Given the description of an element on the screen output the (x, y) to click on. 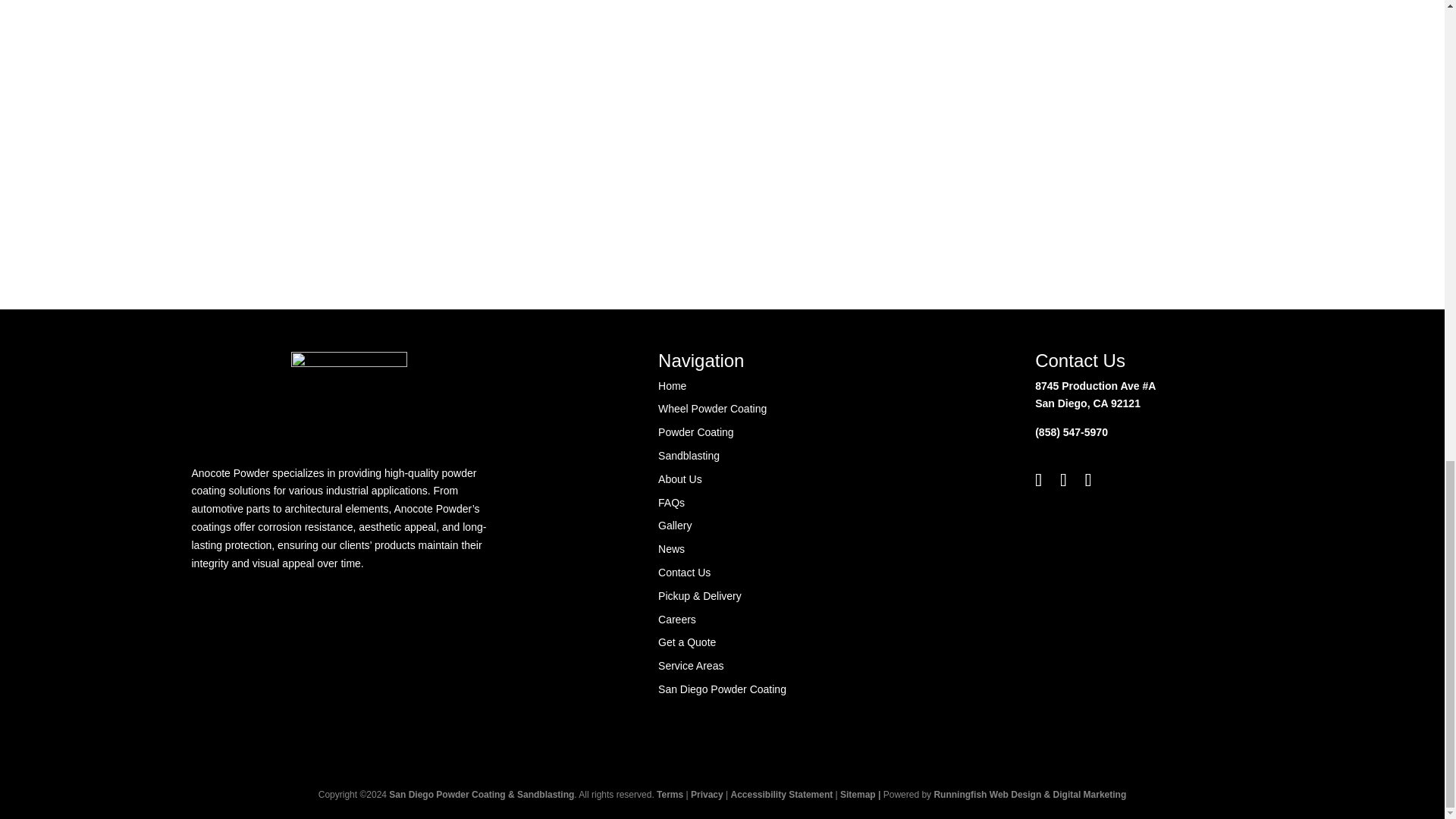
Home (671, 386)
Service Areas (690, 665)
Wheel Powder Coating (712, 408)
FAQs (671, 502)
News (671, 548)
Sandblasting (688, 455)
Get a Quote (687, 642)
Gallery (674, 525)
Careers (676, 618)
Contact Us (684, 572)
Powder Coating (695, 431)
San Diego Powder Coating (722, 689)
About Us (679, 479)
